Given the description of an element on the screen output the (x, y) to click on. 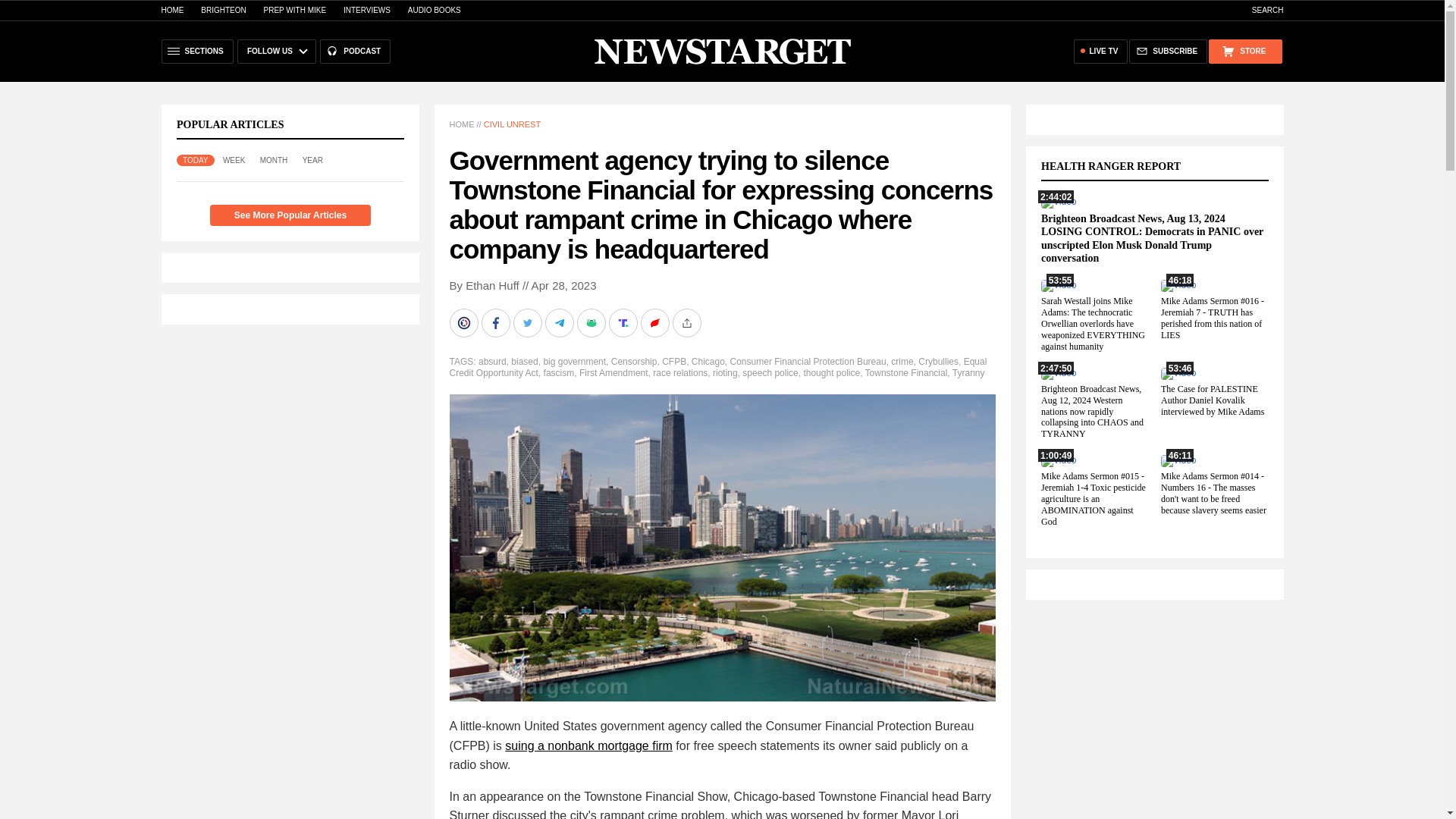
SUBSCRIBE (1168, 51)
46:18 (1177, 285)
Share on Twitter (528, 322)
absurd (492, 361)
PODCAST (355, 51)
Share on GAB (592, 322)
Share on Truth.Social (624, 322)
